Given the description of an element on the screen output the (x, y) to click on. 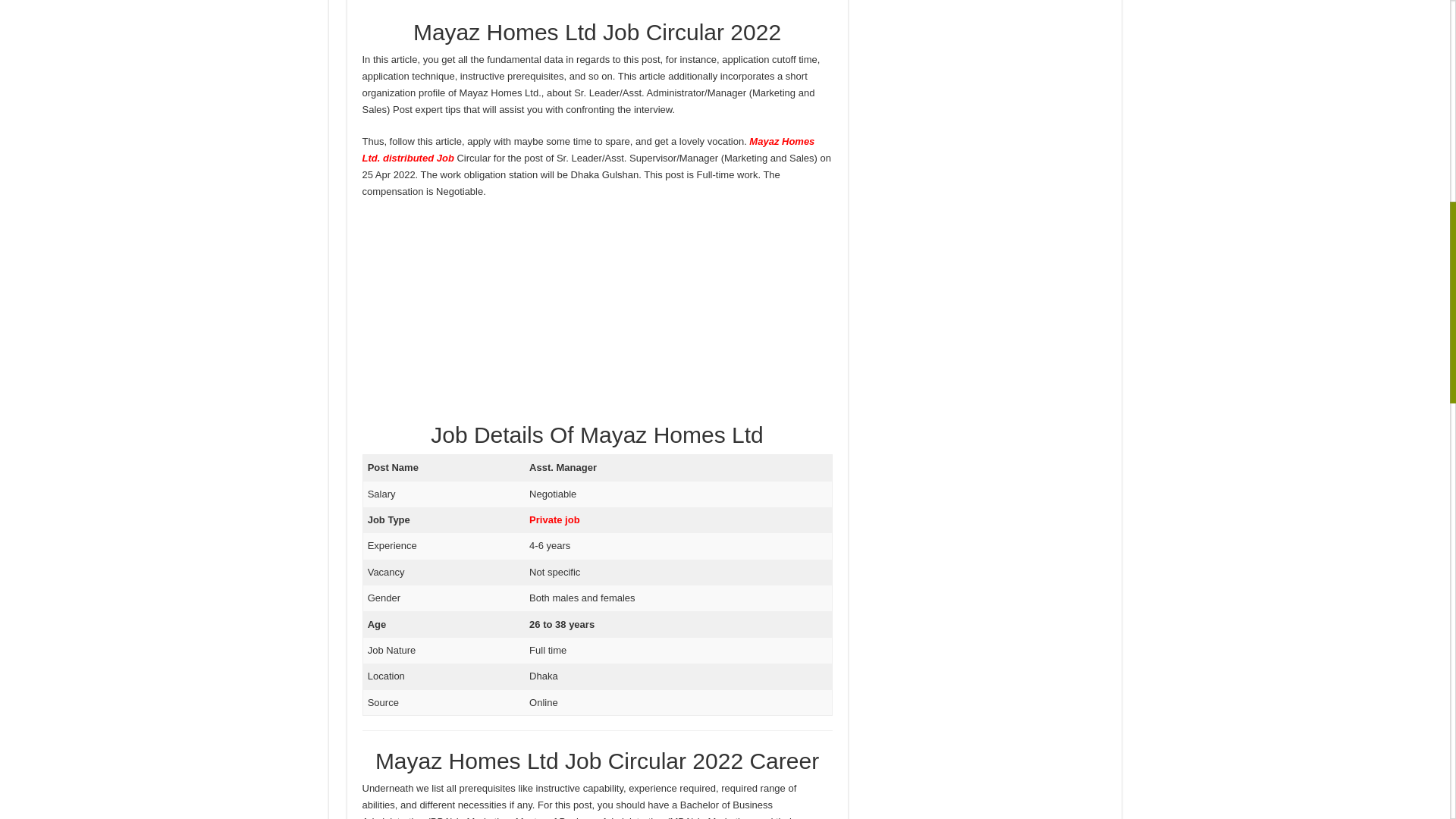
Private job (554, 519)
Mayaz Homes Ltd. distributed Job (588, 149)
